Given the description of an element on the screen output the (x, y) to click on. 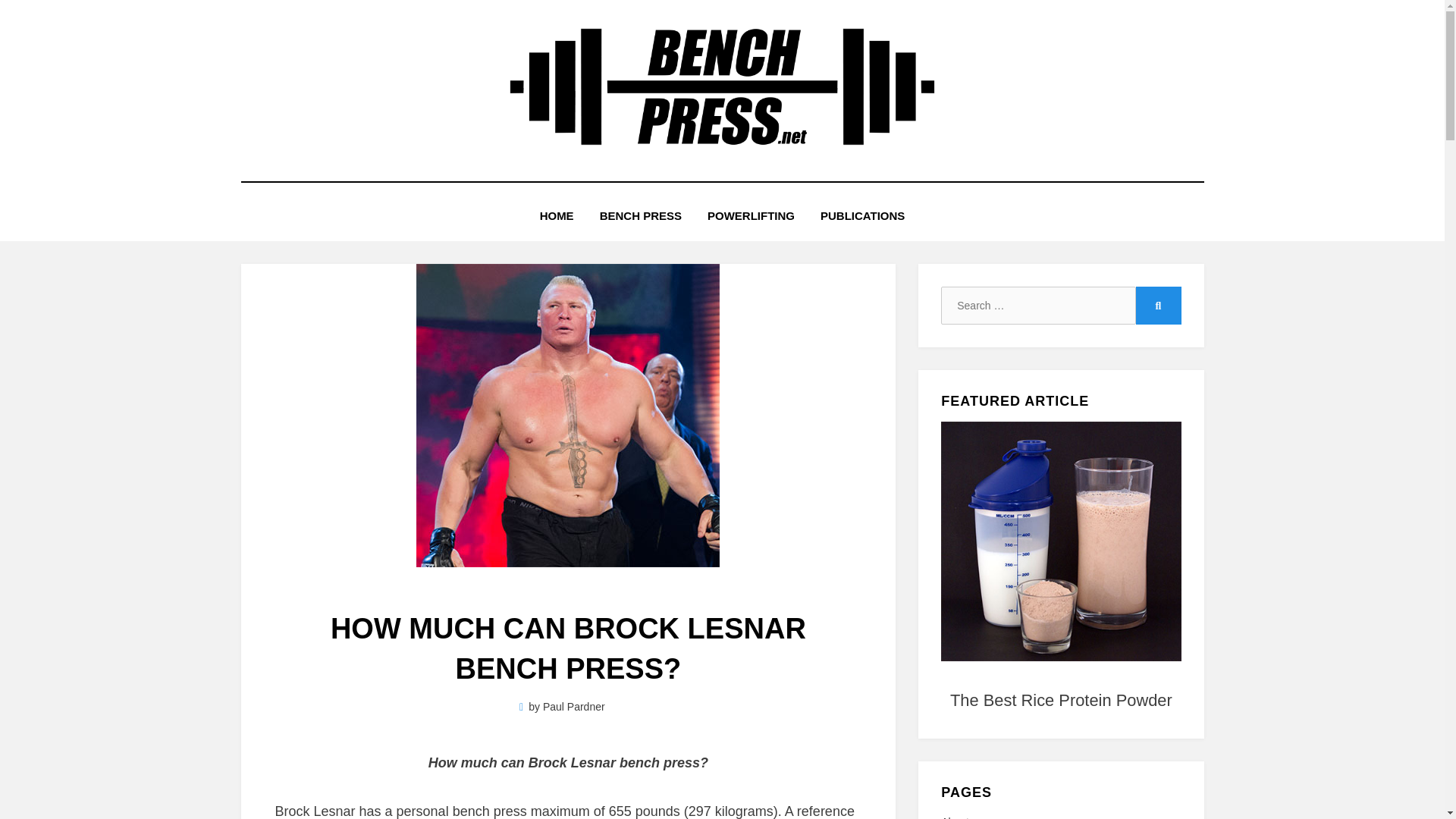
PUBLICATIONS (862, 215)
Paul Pardner (574, 706)
BENCH PRESS (640, 215)
HOME (556, 215)
POWERLIFTING (751, 215)
